Given the description of an element on the screen output the (x, y) to click on. 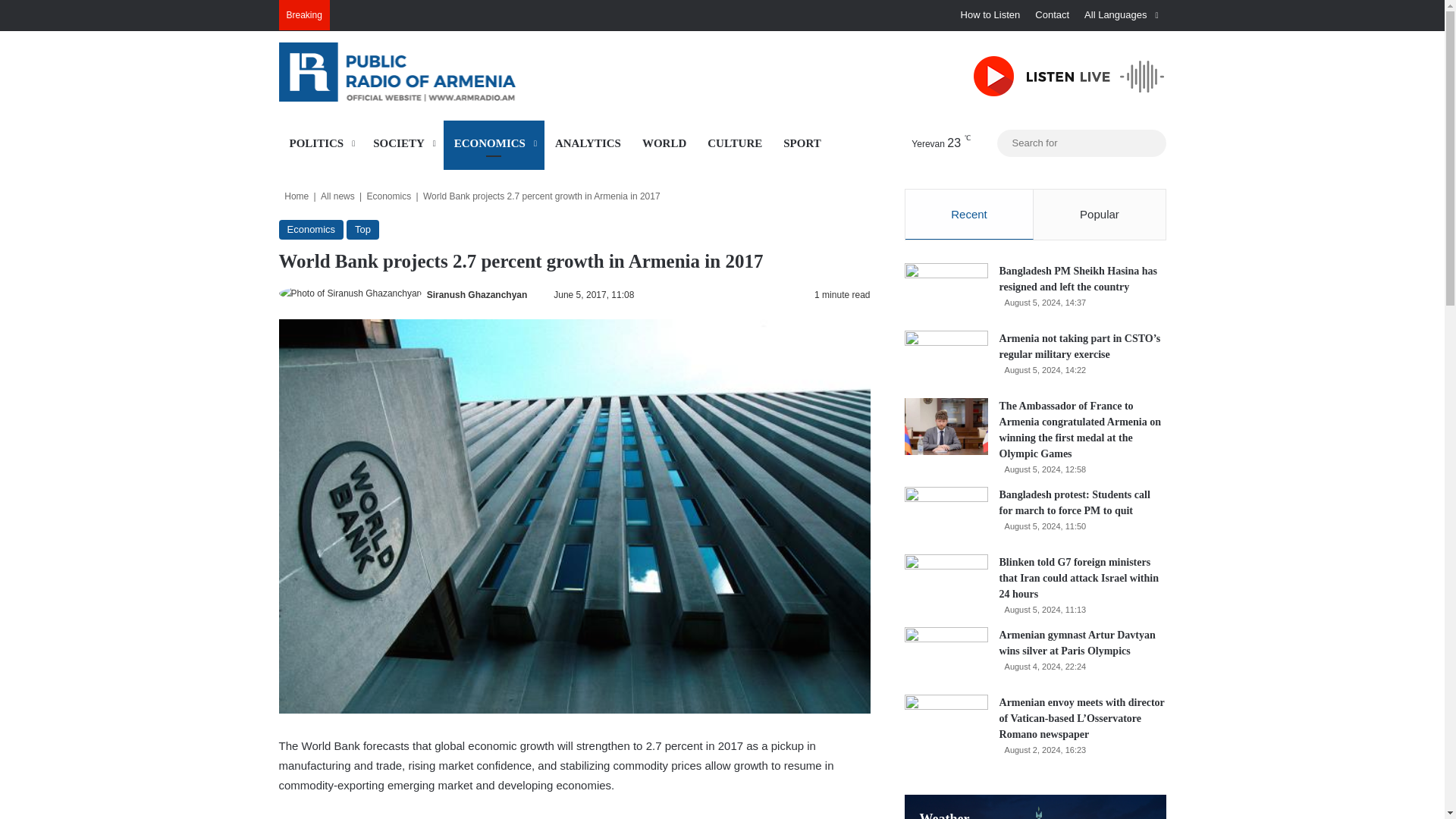
SOCIETY (403, 143)
Public Radio of Armenia (419, 71)
ANALYTICS (587, 143)
Economics (389, 195)
Contact (1052, 15)
Clear Sky (926, 142)
CULTURE (735, 143)
All Languages (1121, 15)
How to Listen (990, 15)
WORLD (664, 143)
POLITICS (320, 143)
Search for (1150, 143)
ECONOMICS (494, 143)
SPORT (802, 143)
Economics (311, 229)
